Given the description of an element on the screen output the (x, y) to click on. 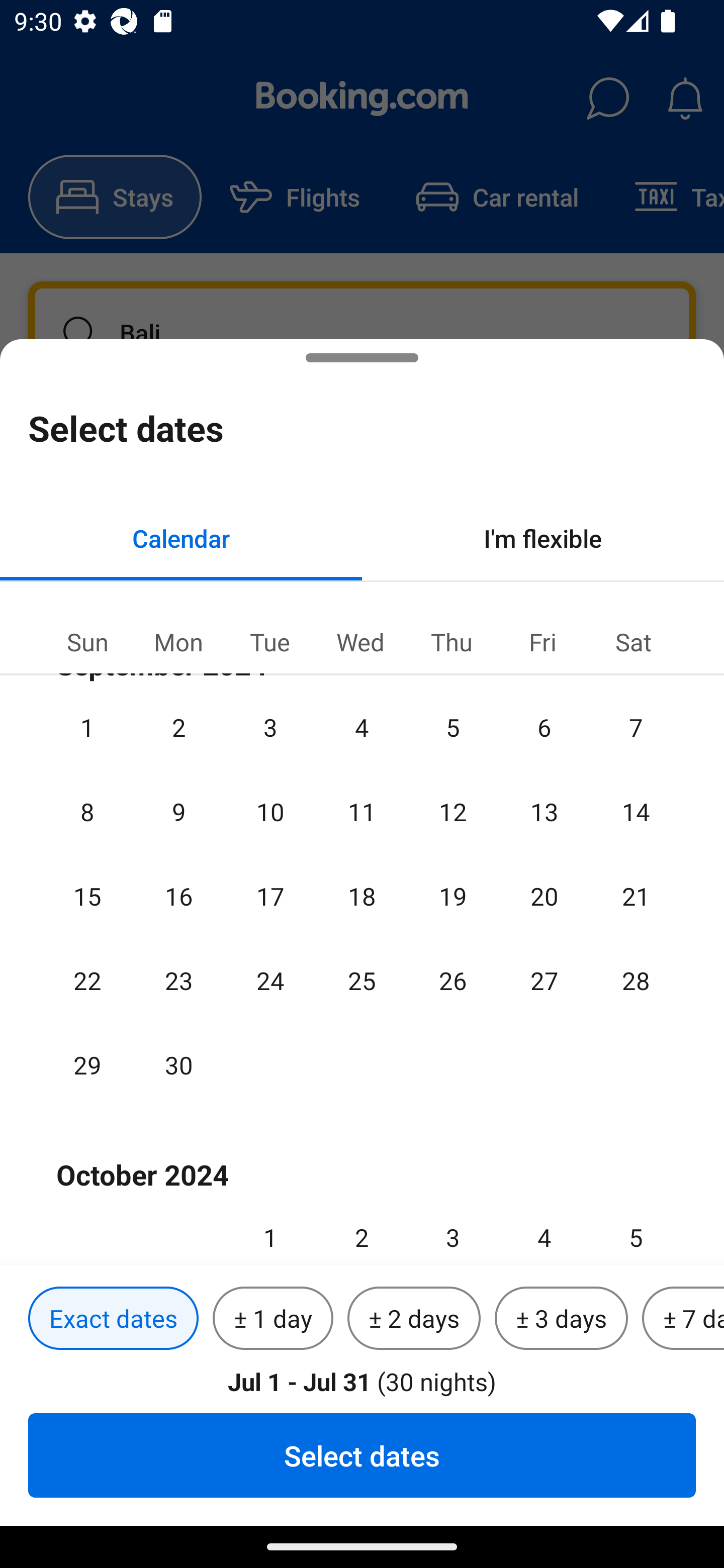
I'm flexible (543, 537)
Exact dates (113, 1318)
± 1 day (272, 1318)
± 2 days (413, 1318)
± 3 days (560, 1318)
± 7 days (683, 1318)
Select dates (361, 1454)
